Given the description of an element on the screen output the (x, y) to click on. 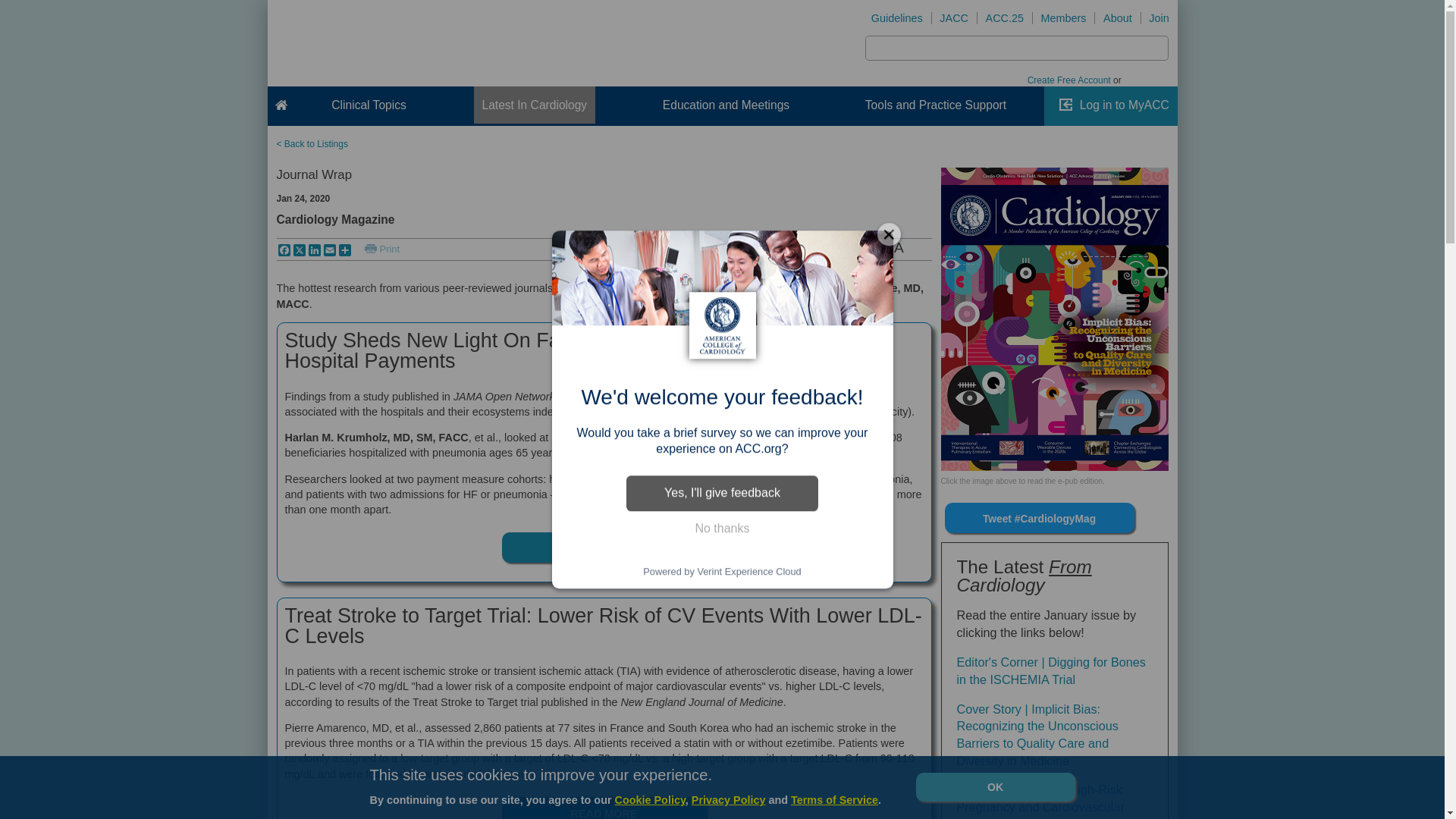
JACC.org (953, 18)
JACC (953, 18)
Create Free Account (1068, 80)
Join (1158, 18)
Latest In Cardiology (533, 104)
ACC Annual Scientific Session (1004, 18)
Guidelines (897, 18)
About (1117, 18)
Clinical Topics (368, 104)
ACC.25 (1004, 18)
Members (1063, 18)
Log in to MyACC (1124, 104)
